Given the description of an element on the screen output the (x, y) to click on. 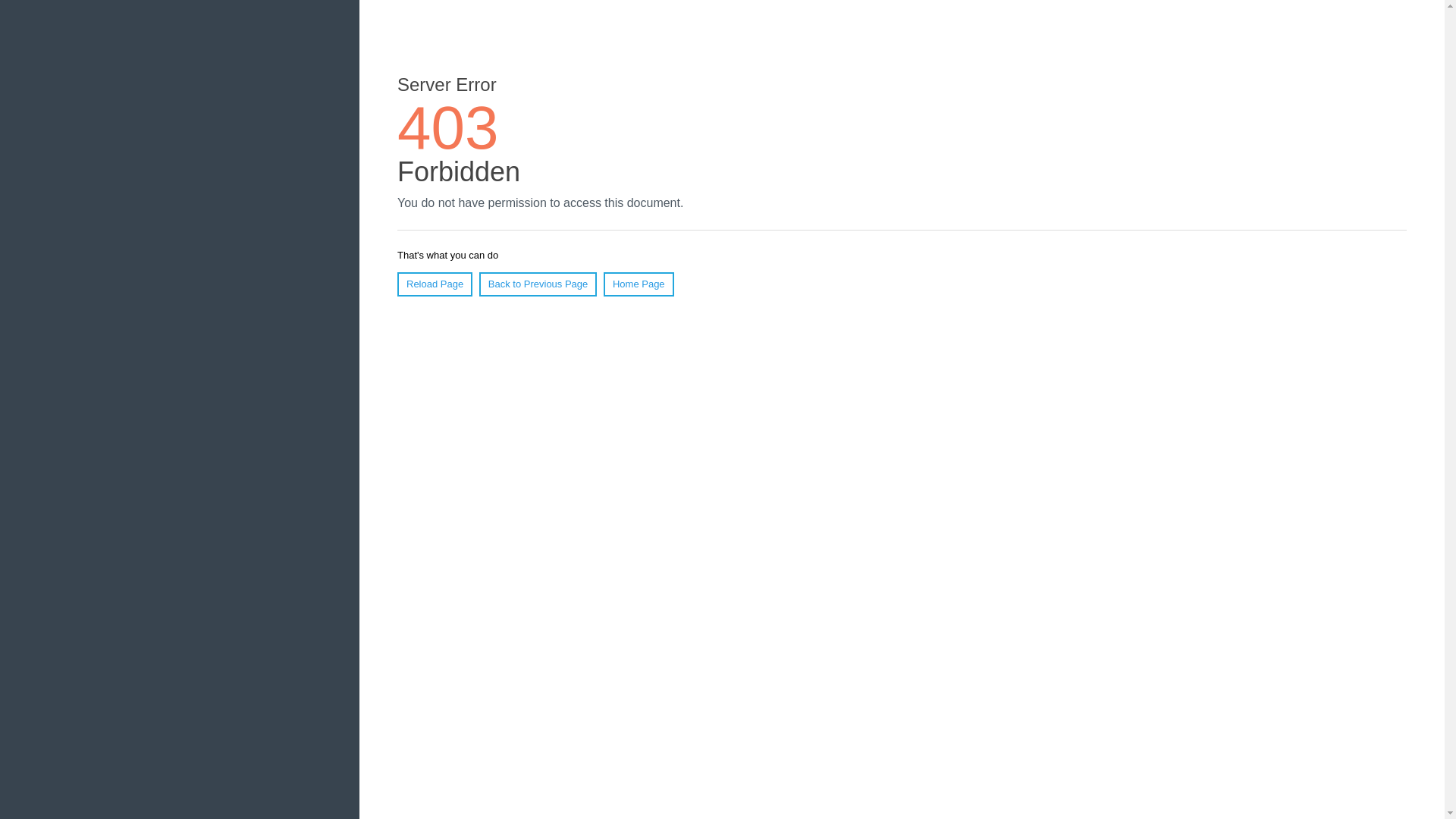
Reload Page (434, 283)
Back to Previous Page (537, 283)
Home Page (639, 283)
